Given the description of an element on the screen output the (x, y) to click on. 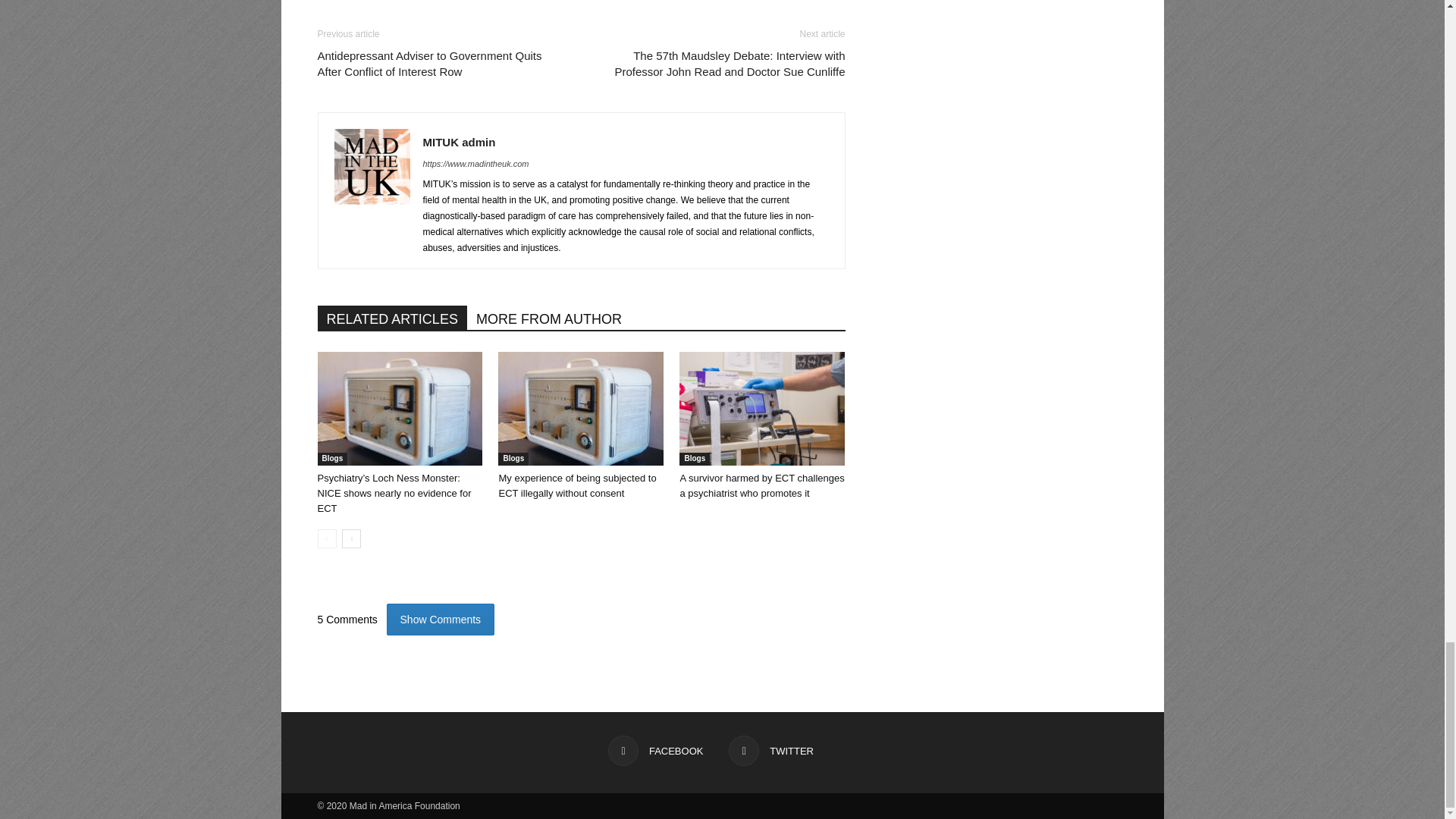
Facebook (655, 750)
